Given the description of an element on the screen output the (x, y) to click on. 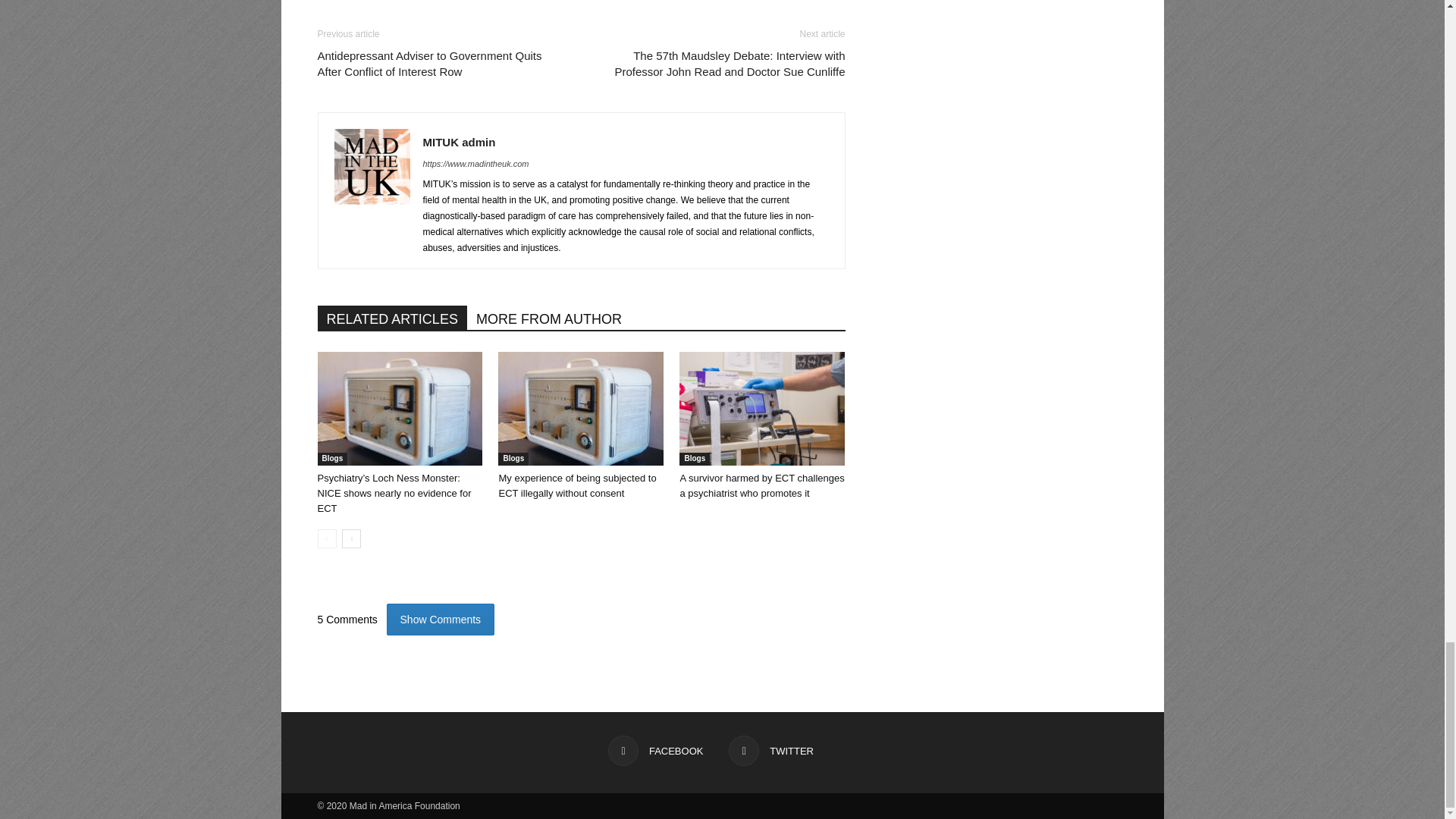
Facebook (655, 750)
